Given the description of an element on the screen output the (x, y) to click on. 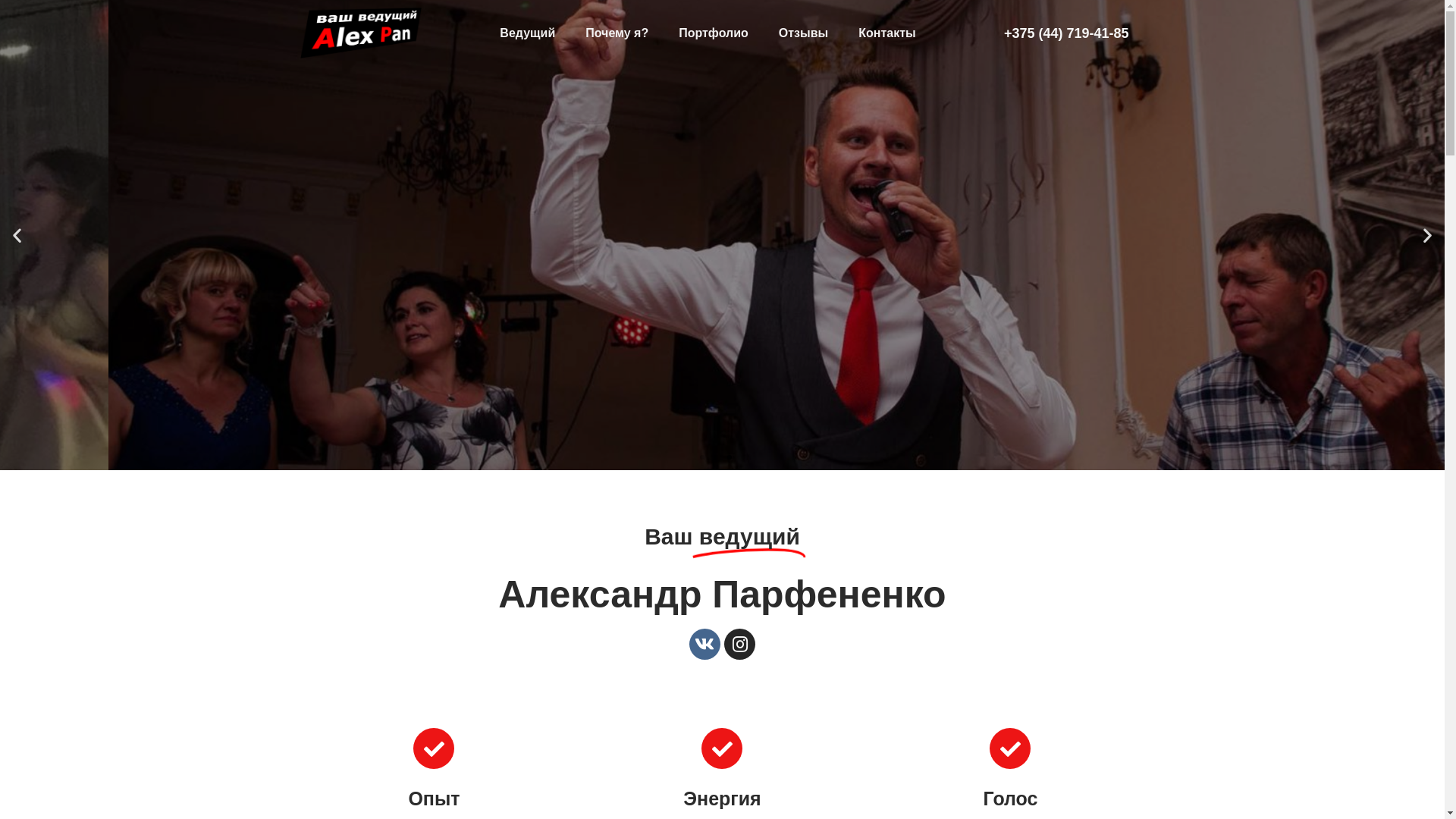
+375 (44) 719-41-85 Element type: text (1066, 32)
